Given the description of an element on the screen output the (x, y) to click on. 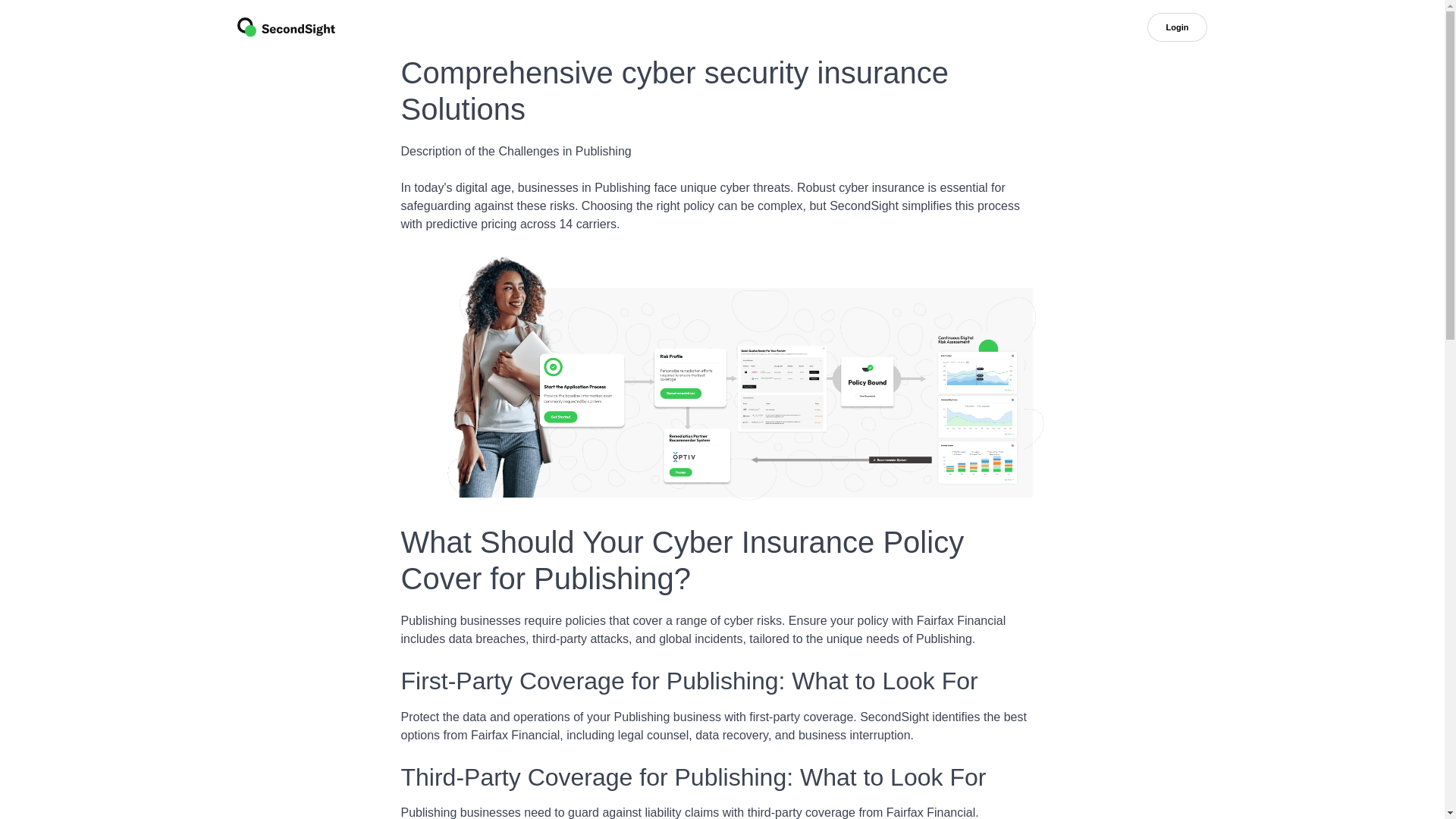
Login (1177, 27)
